Given the description of an element on the screen output the (x, y) to click on. 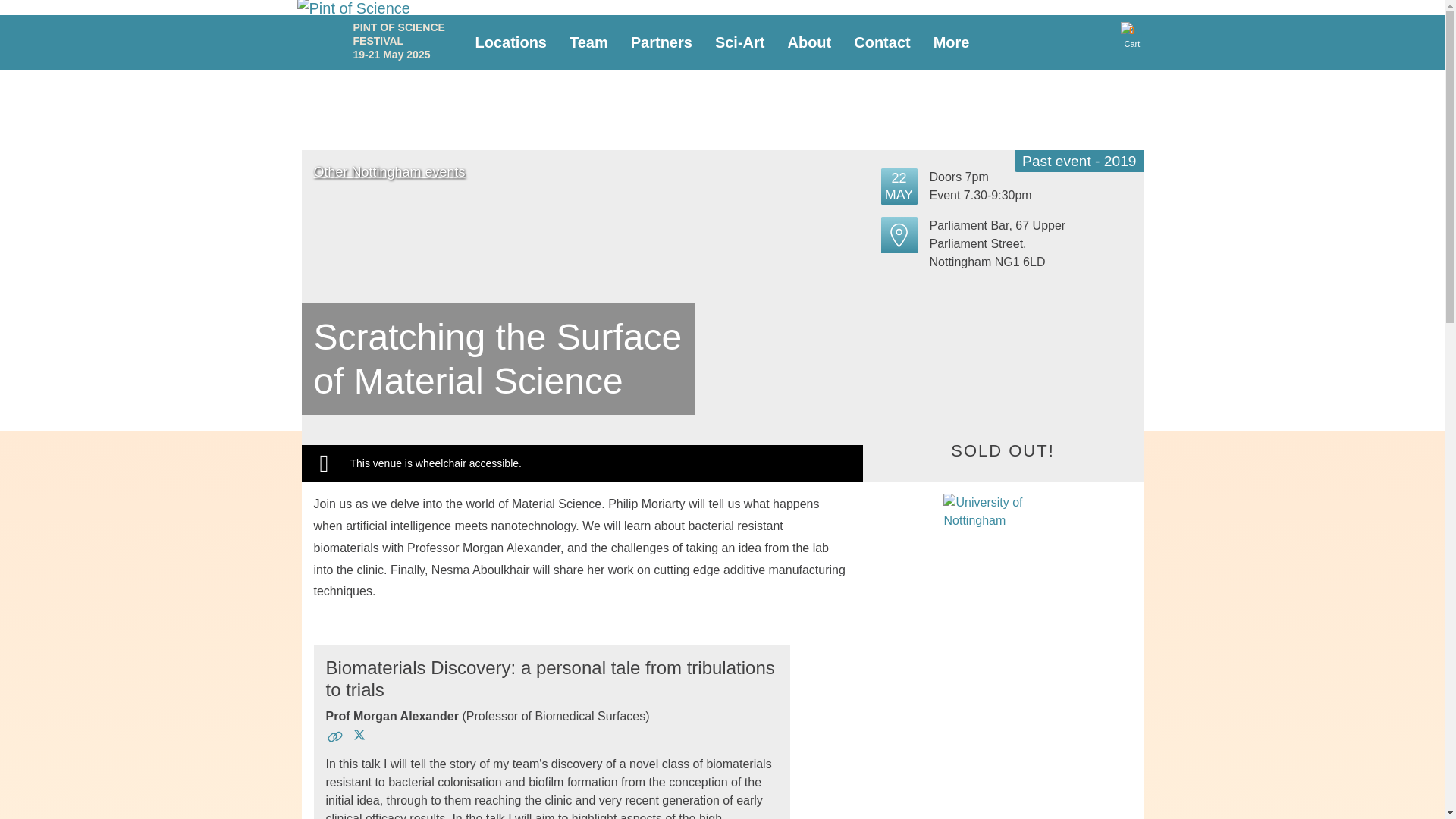
About (809, 42)
Partners (661, 42)
Partners (661, 42)
More (1131, 30)
Locations (951, 42)
Locations (510, 42)
About (510, 42)
Team (809, 42)
Sci-Art (588, 42)
